Given the description of an element on the screen output the (x, y) to click on. 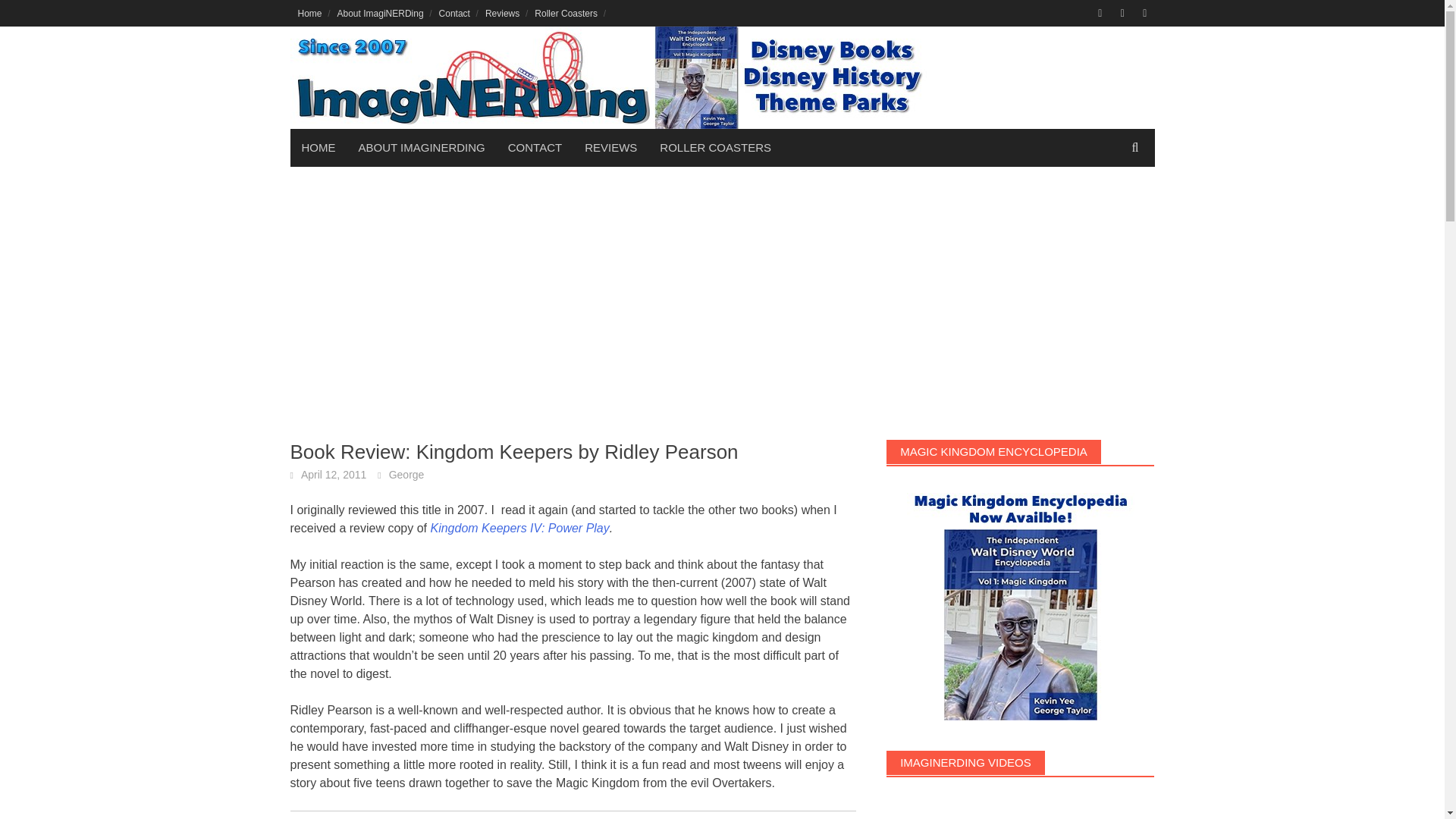
Home (309, 13)
ABOUT IMAGINERDING (421, 147)
ROLLER COASTERS (715, 147)
April 12, 2011 (333, 474)
Reviews (502, 13)
George (406, 474)
Contact (453, 13)
About ImagiNERDing (380, 13)
Roller Coasters (566, 13)
HOME (317, 147)
Kingdom Keepers IV: Power Play (518, 527)
REVIEWS (610, 147)
CONTACT (534, 147)
